Given the description of an element on the screen output the (x, y) to click on. 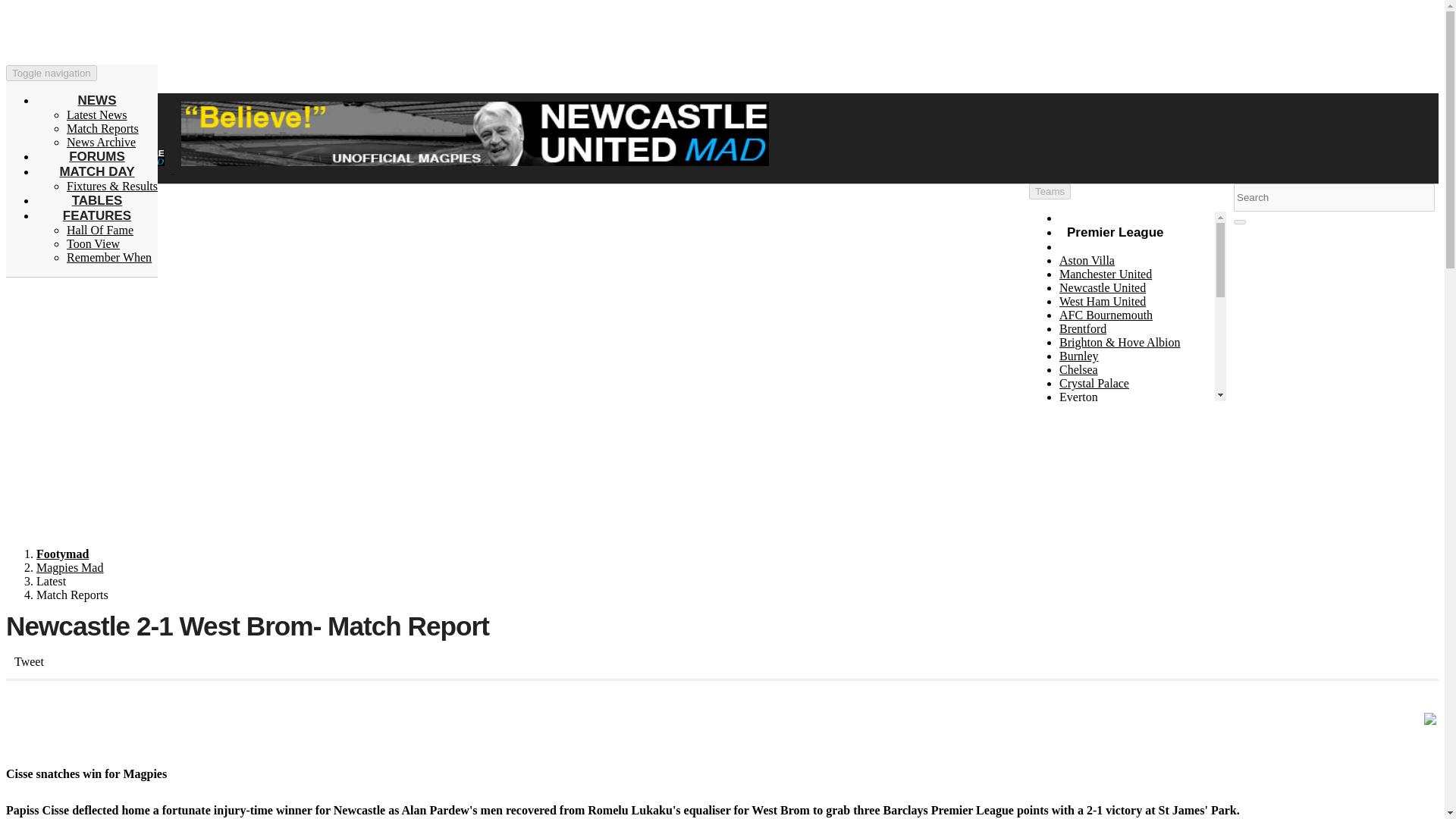
Manchester City (1099, 437)
Aston Villa (1087, 259)
FEATURES (96, 215)
Hall Of Fame (99, 229)
Toggle navigation (51, 73)
Fulham (1077, 410)
Wales (1074, 630)
Hall Of Fame (99, 229)
Manchester United (1105, 273)
Crystal Palace (1094, 382)
Burnley (1079, 355)
Northern Ireland (1099, 589)
Liverpool (1082, 519)
Match Reports (111, 185)
Nottingham Forest (1104, 451)
